Given the description of an element on the screen output the (x, y) to click on. 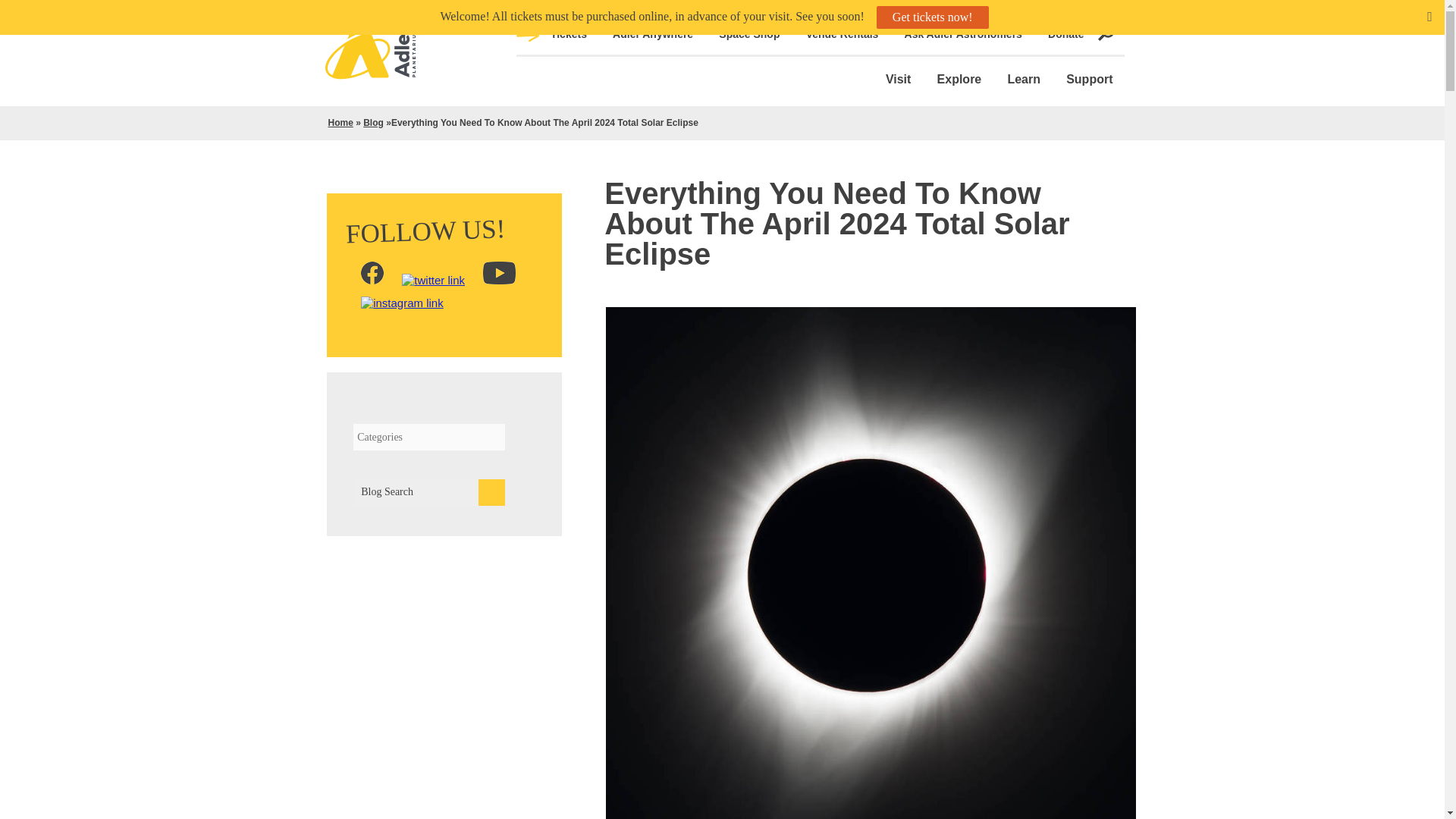
About Us (1339, 699)
Visit (898, 81)
Exhibits (1339, 562)
Sky Shows (1339, 596)
Explore (959, 81)
Save with CityPASS (1339, 306)
Digital Series (1339, 631)
Go to the home page (369, 70)
Your Visit (1339, 221)
Events (1339, 665)
Group Visits (1339, 392)
Site Search (1395, 37)
Star Pass Portal (1339, 358)
School Field Trips (1339, 443)
